Given the description of an element on the screen output the (x, y) to click on. 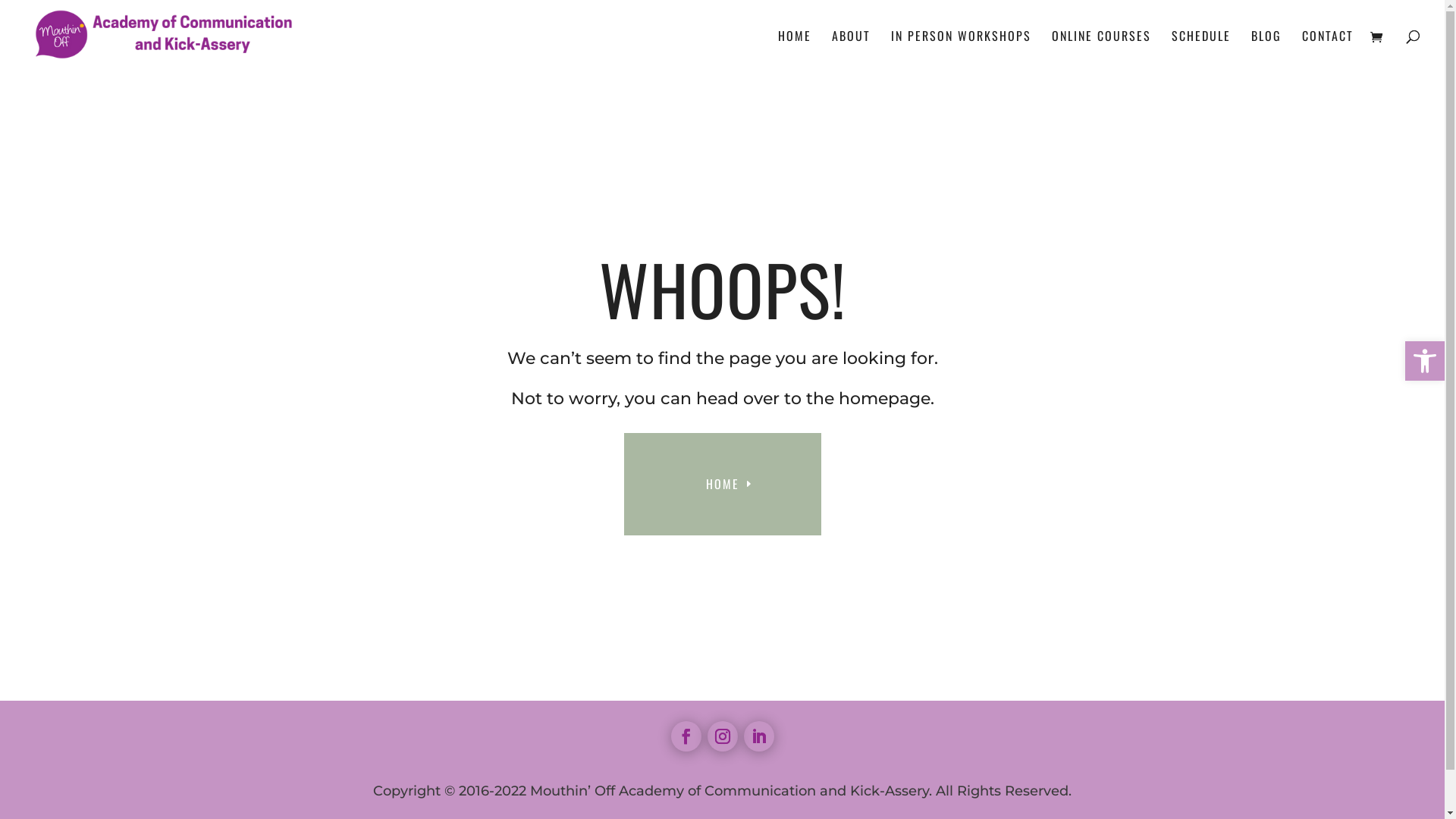
Open toolbar
Accessibility Tools Element type: text (1424, 360)
ABOUT Element type: text (850, 50)
Follow on LinkedIn Element type: hover (758, 736)
Follow on Instagram Element type: hover (721, 736)
CONTACT Element type: text (1327, 50)
Follow on Facebook Element type: hover (685, 736)
SCHEDULE Element type: text (1200, 50)
HOME Element type: text (721, 484)
IN PERSON WORKSHOPS Element type: text (961, 50)
BLOG Element type: text (1266, 50)
HOME Element type: text (794, 50)
ONLINE COURSES Element type: text (1101, 50)
